Given the description of an element on the screen output the (x, y) to click on. 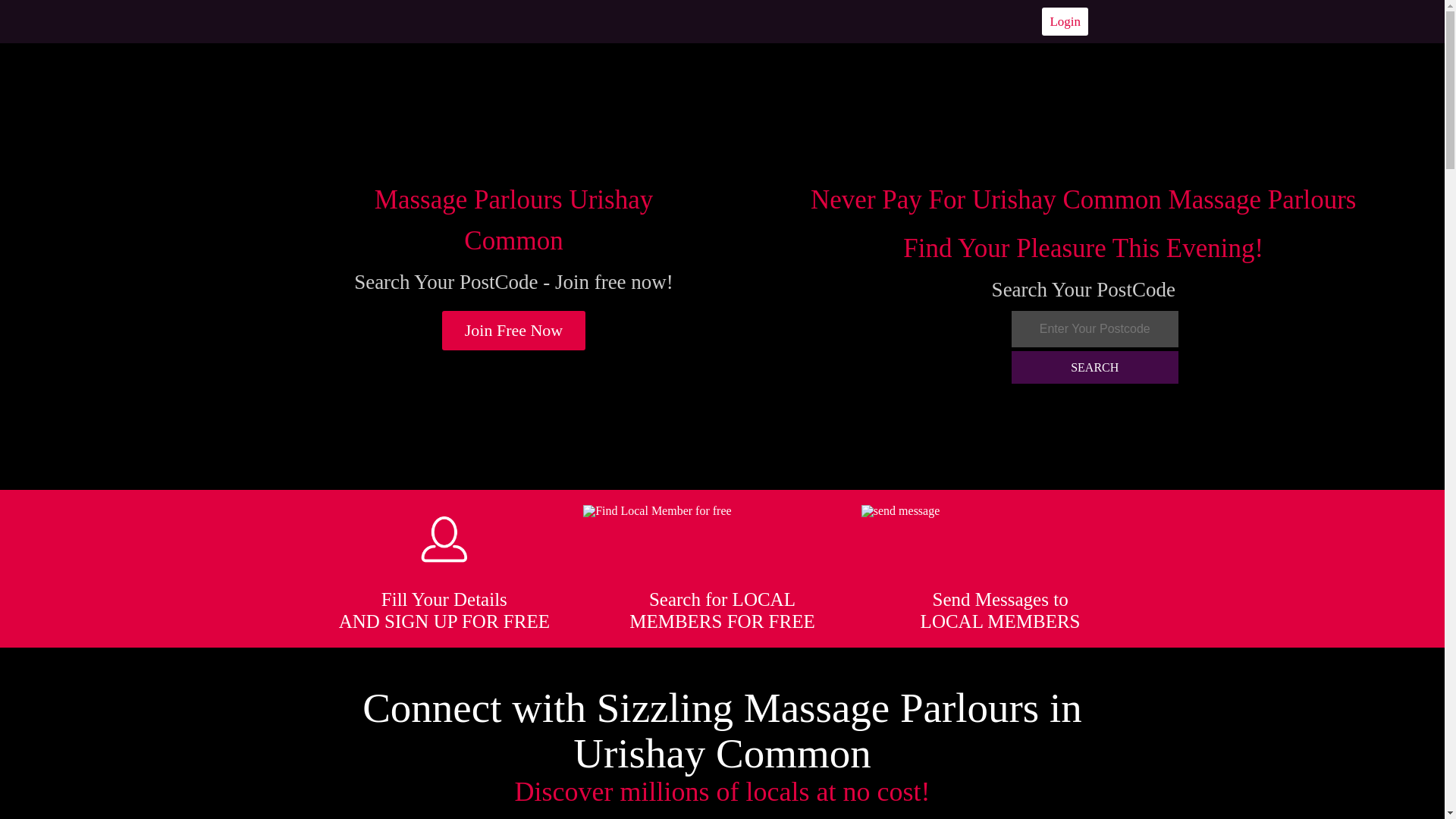
Join Free Now (514, 330)
Login (1064, 21)
Join (514, 330)
Login (1064, 21)
SEARCH (1094, 367)
